Given the description of an element on the screen output the (x, y) to click on. 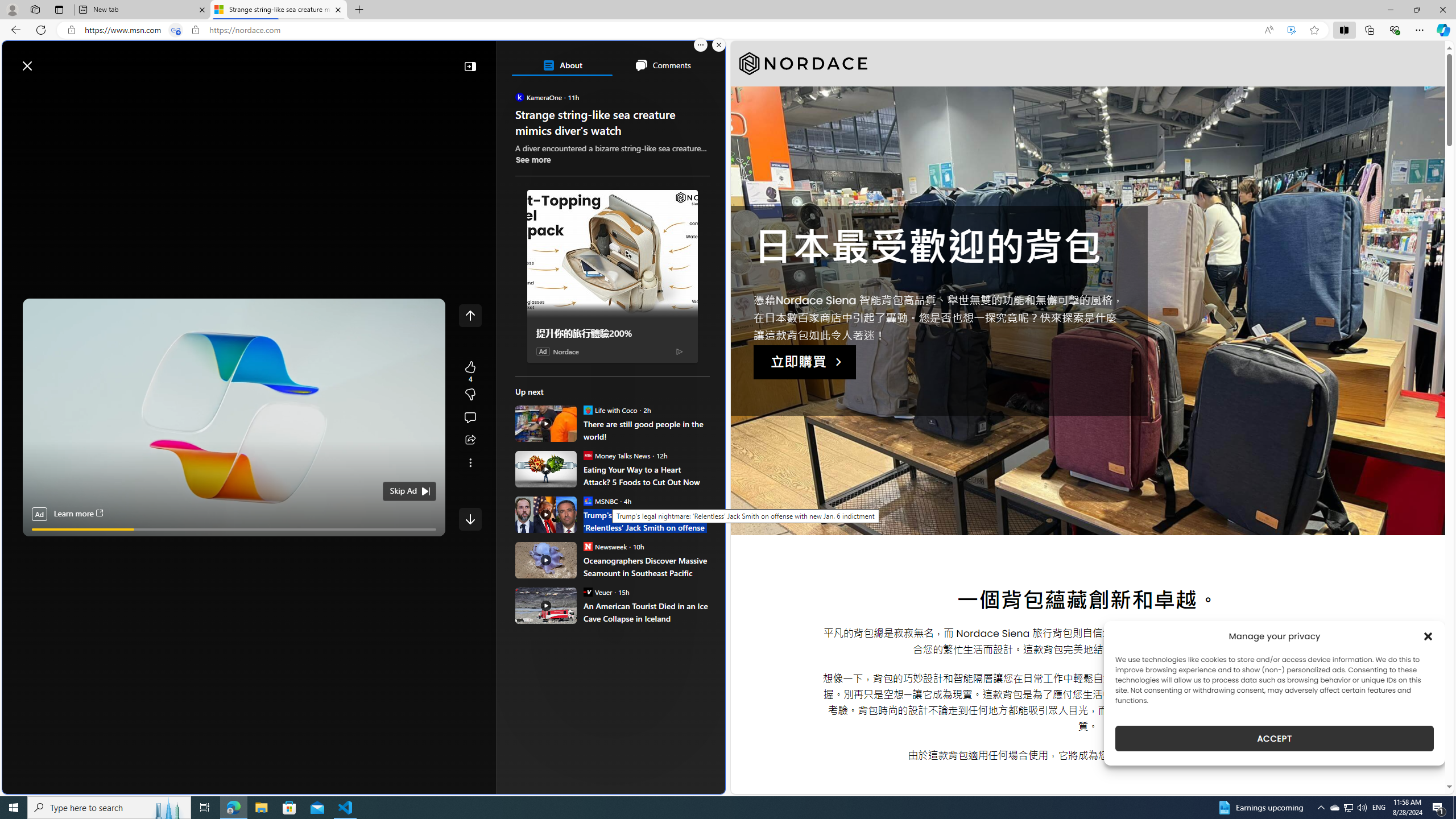
Settings and more (Alt+F) (1419, 29)
Personalize (679, 92)
Close tab (338, 9)
Browser essentials (1394, 29)
4 Like (469, 371)
video progress bar (234, 529)
Discover (47, 92)
Strange string-like sea creature mimics diver's watch (277, 9)
Add this page to favorites (Ctrl+D) (1314, 29)
Skip to footer (46, 59)
